Given the description of an element on the screen output the (x, y) to click on. 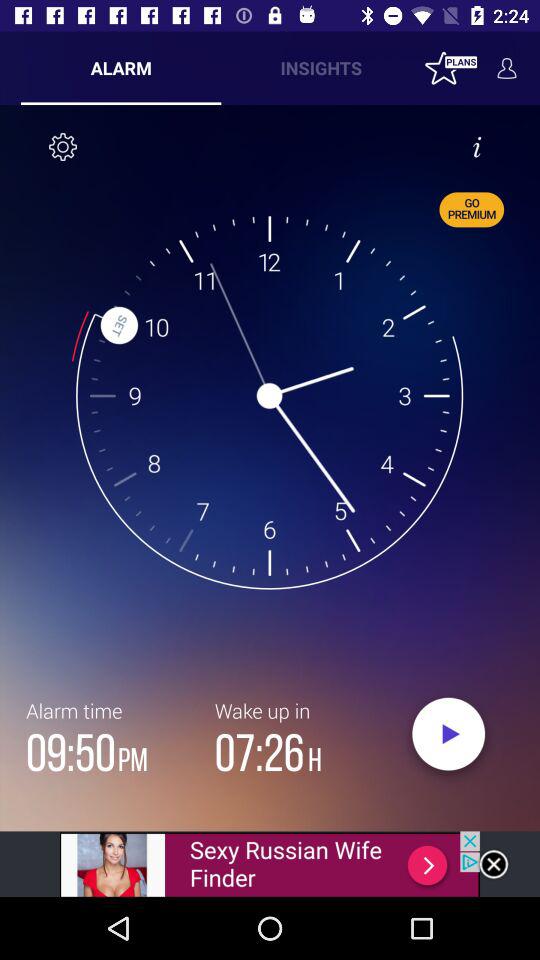
for play (448, 739)
